Given the description of an element on the screen output the (x, y) to click on. 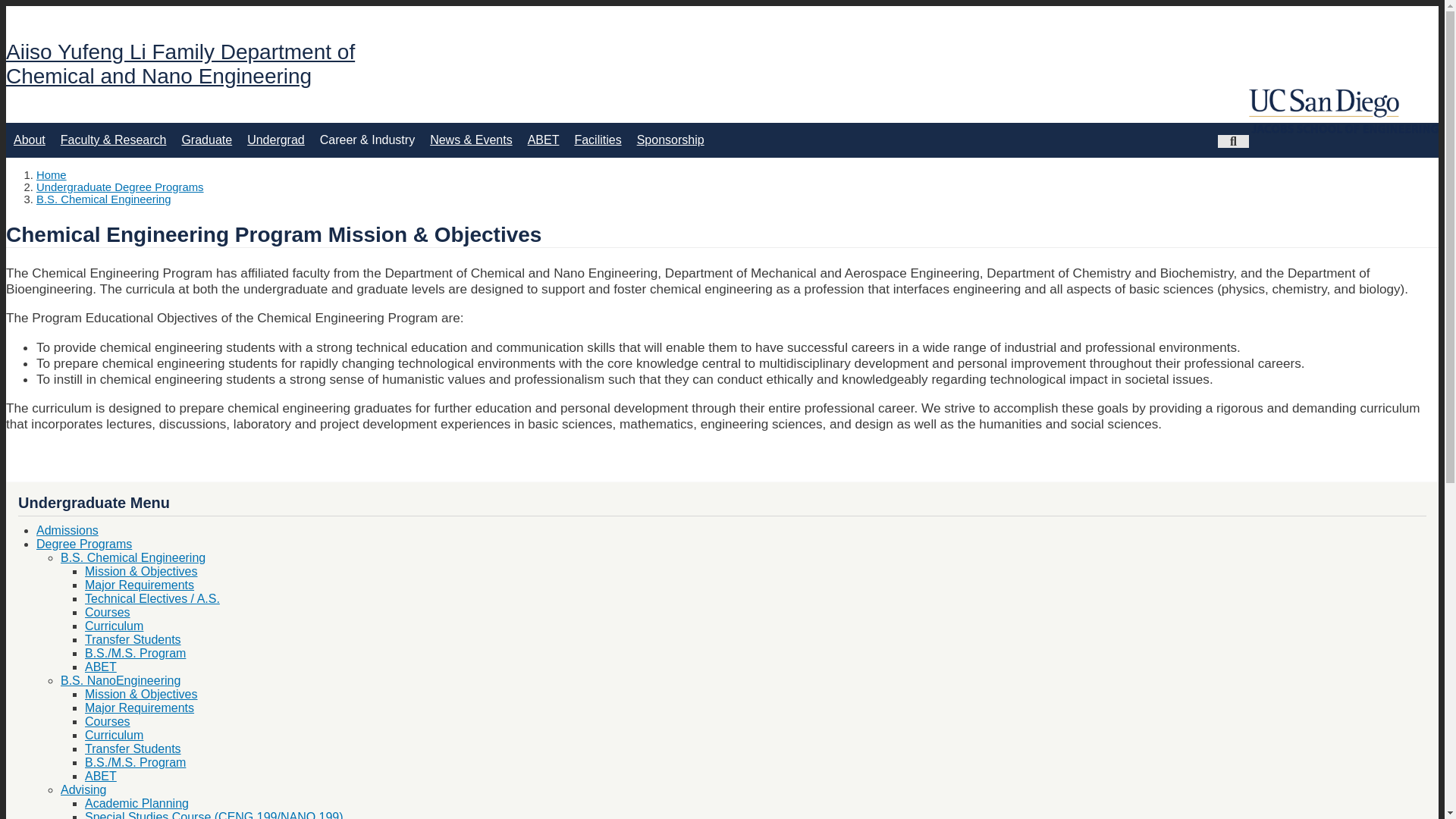
Skip to main content (722, 7)
About (28, 140)
Undergrad (276, 140)
Graduate (206, 140)
